Given the description of an element on the screen output the (x, y) to click on. 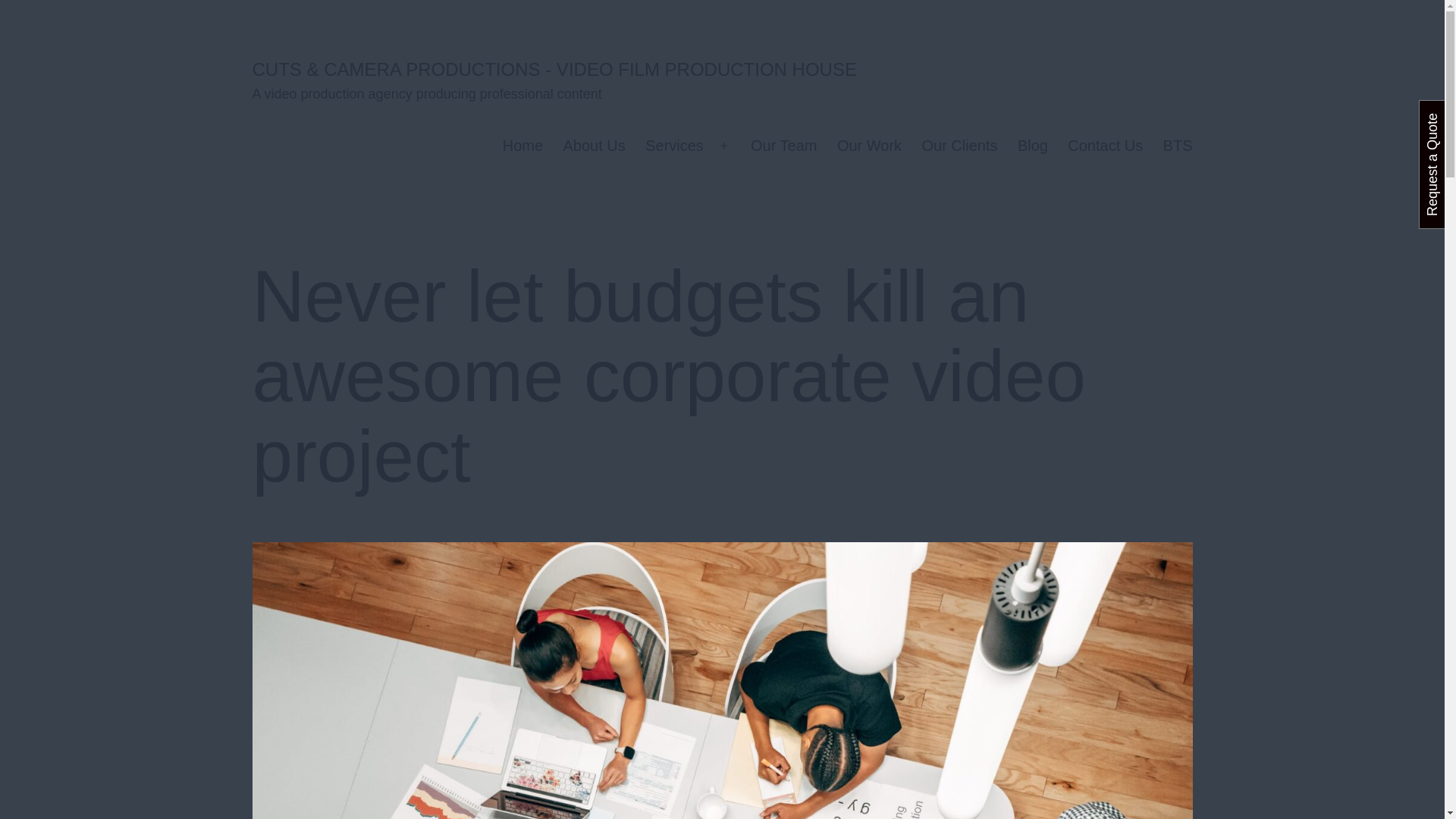
Contact Us (1105, 145)
Home (523, 145)
Services (673, 145)
Our Team (784, 145)
Our Clients (959, 145)
BTS (1177, 145)
About Us (593, 145)
Our Work (869, 145)
Blog (1032, 145)
